Given the description of an element on the screen output the (x, y) to click on. 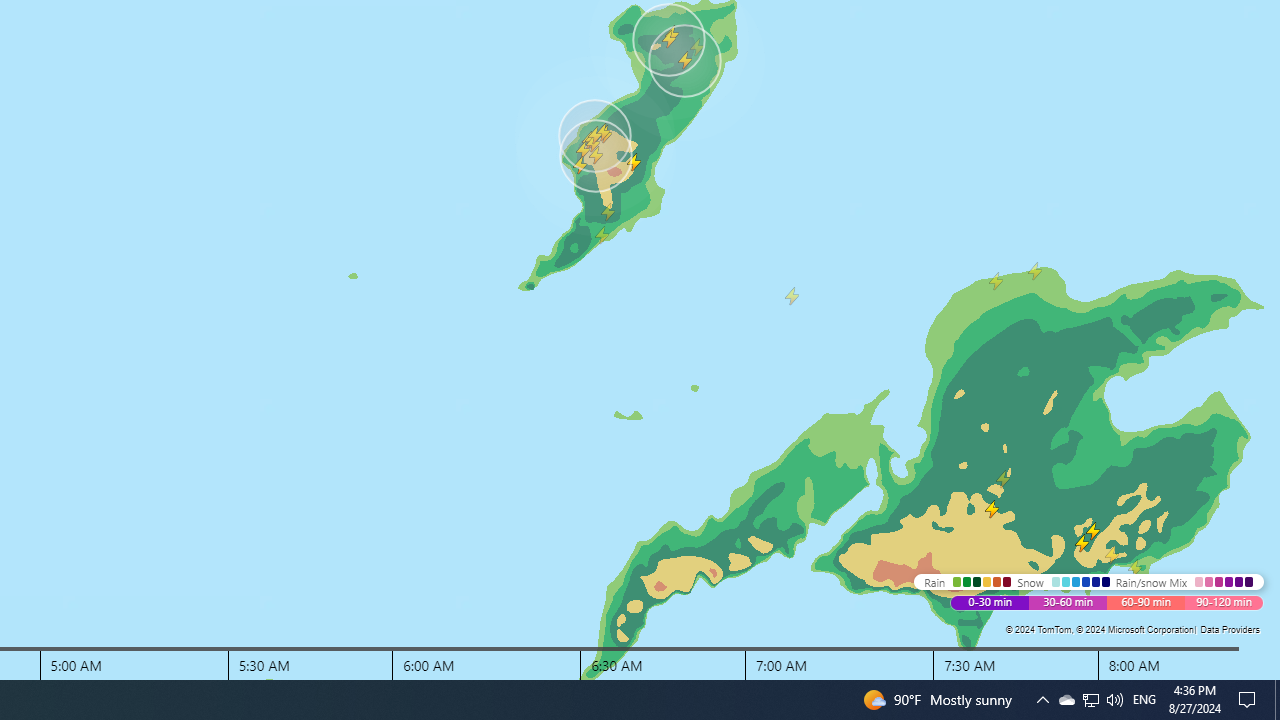
User Promoted Notification Area (1090, 699)
Action Center, No new notifications (1250, 699)
Q2790: 100% (1091, 699)
Tray Input Indicator - English (United States) (1114, 699)
Show desktop (1144, 699)
Notification Chevron (1066, 699)
